Given the description of an element on the screen output the (x, y) to click on. 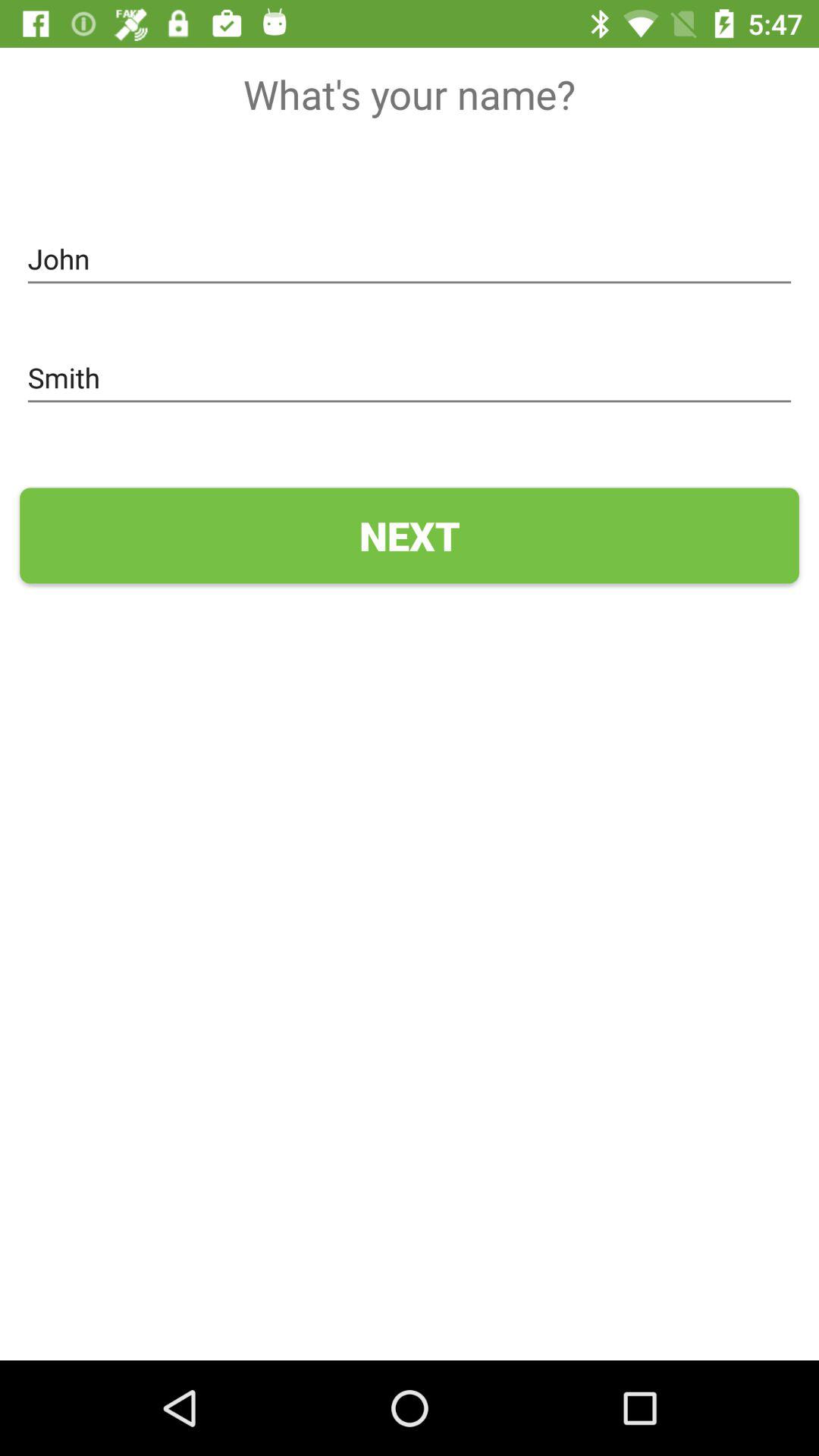
turn on icon below what s your (409, 259)
